Given the description of an element on the screen output the (x, y) to click on. 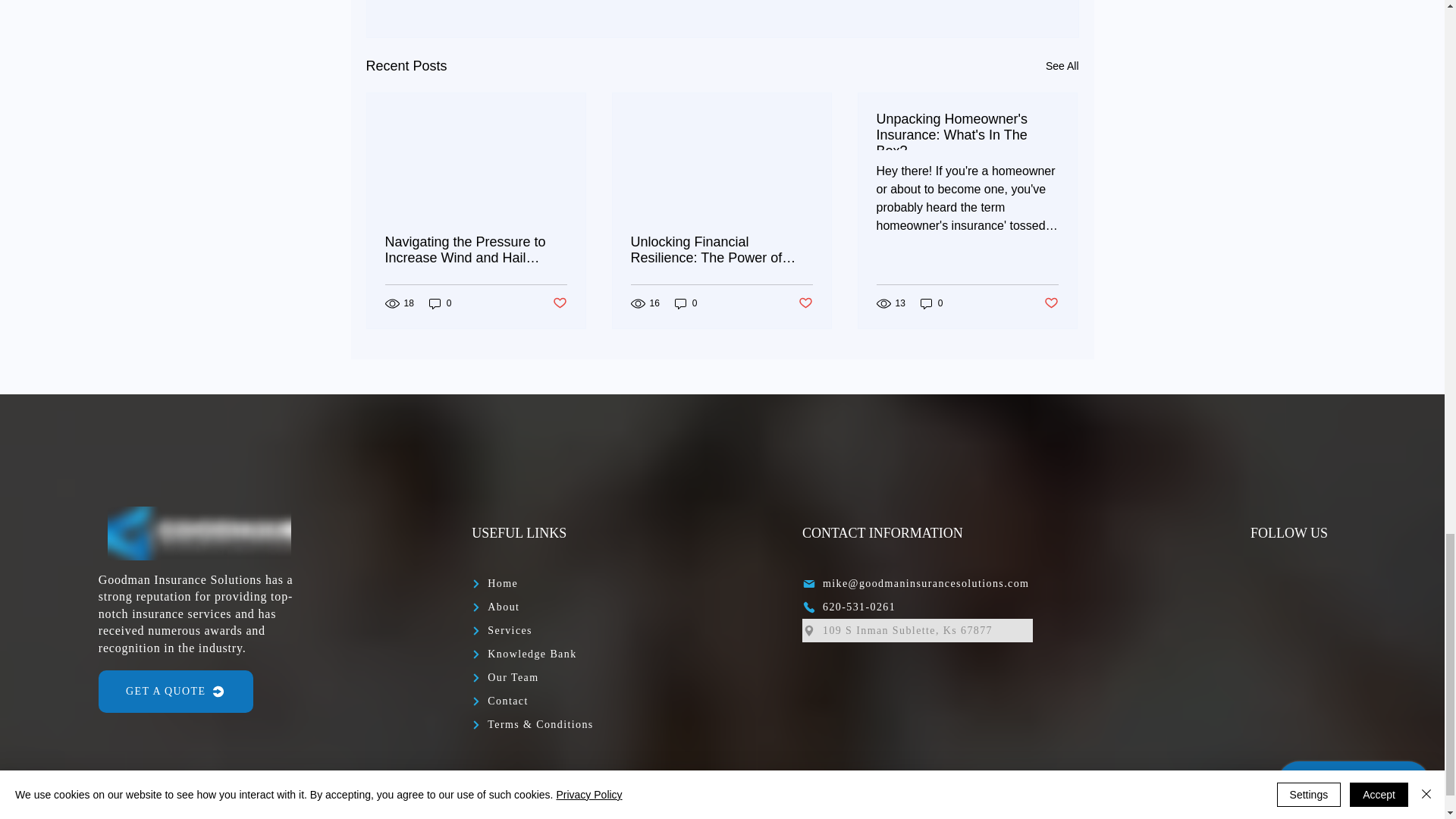
Post not marked as liked (558, 303)
About (499, 607)
See All (1061, 65)
0 (931, 302)
Services (524, 630)
Home (499, 583)
Unpacking Homeowner's Insurance: What's In The Box? (967, 130)
0 (685, 302)
Our Team (524, 677)
GET A QUOTE (176, 691)
Contact (503, 700)
Post not marked as liked (804, 303)
Post not marked as liked (1050, 303)
